Given the description of an element on the screen output the (x, y) to click on. 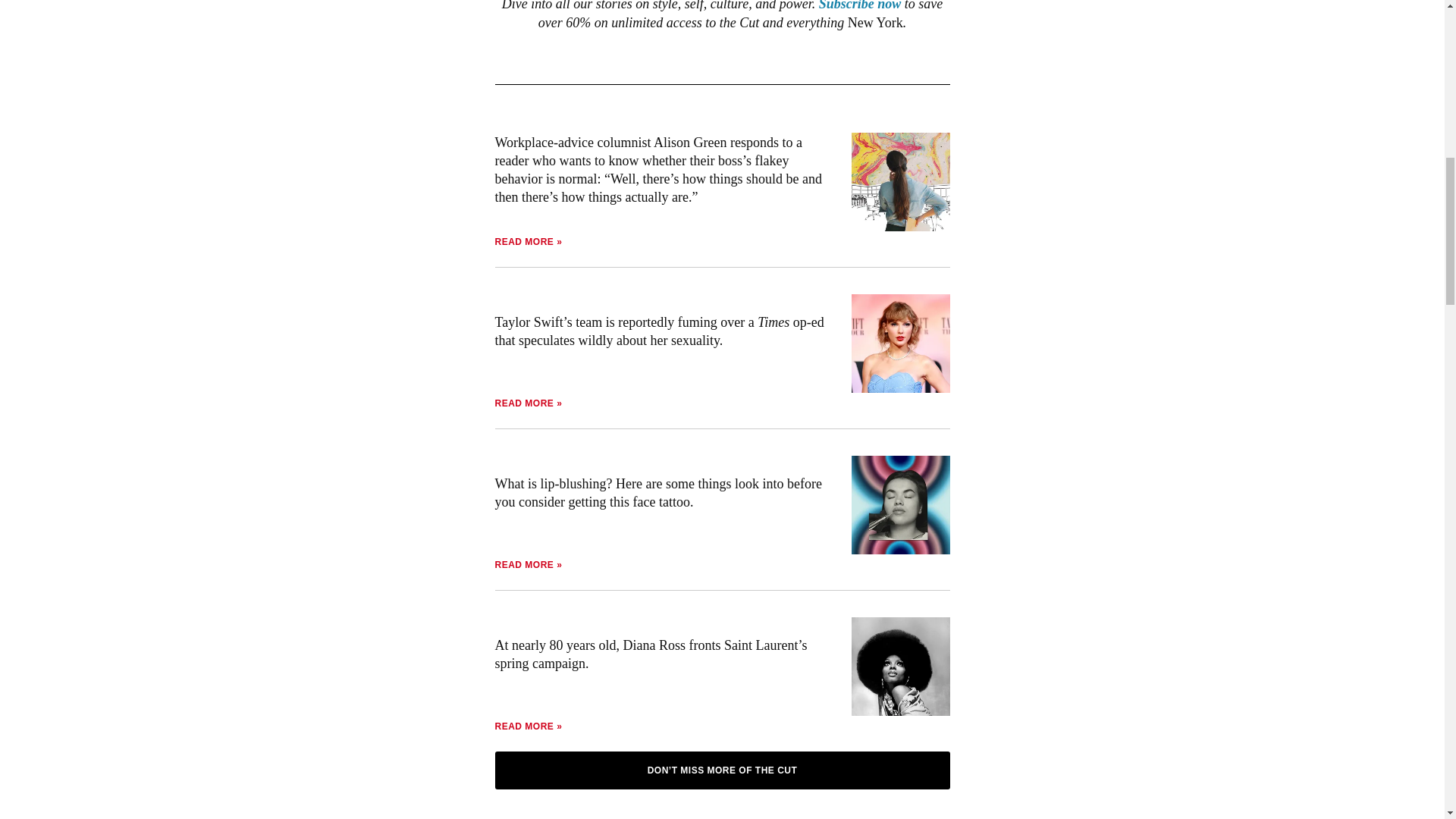
Subscribe now (859, 5)
